Given the description of an element on the screen output the (x, y) to click on. 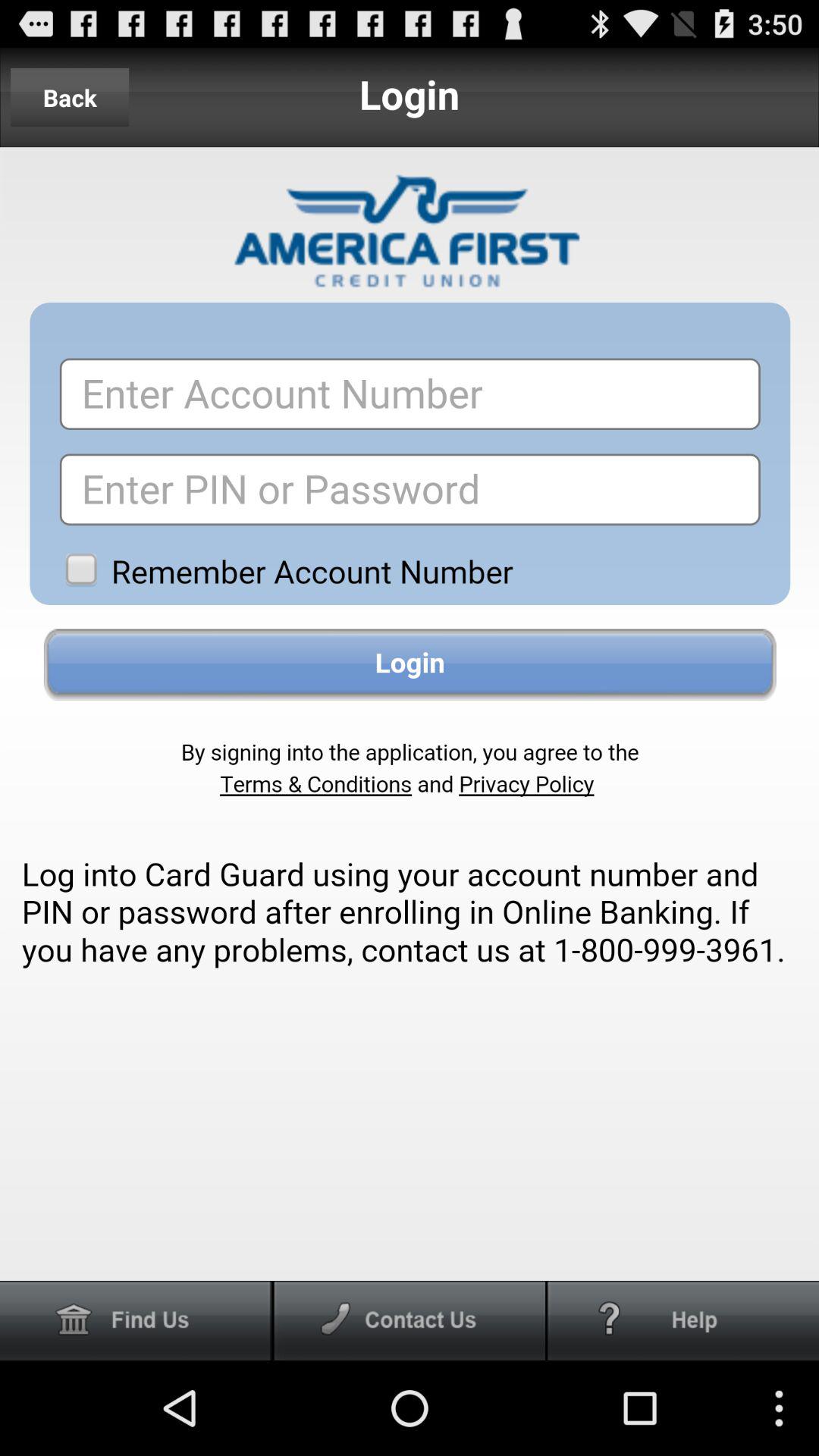
go to find us (135, 1320)
